Given the description of an element on the screen output the (x, y) to click on. 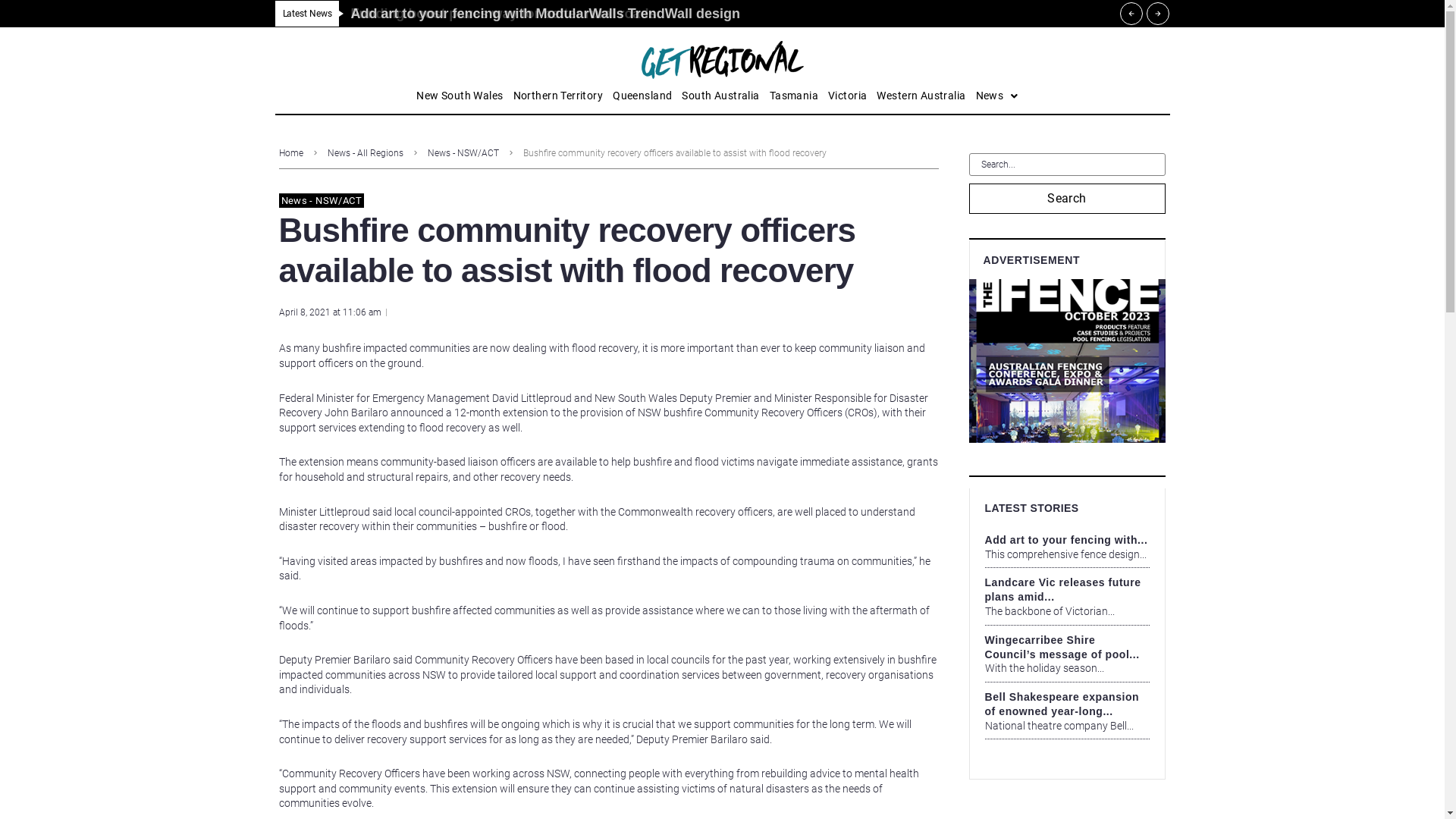
Landcare Vic releases future plans amid... Element type: text (1062, 589)
News - NSW/ACT Element type: text (321, 200)
News - All Regions Element type: text (365, 152)
South Australia Element type: text (720, 95)
Western Australia Element type: text (920, 95)
Bell Shakespeare expansion of enowned year-long... Element type: text (1061, 703)
Northern Territory Element type: text (558, 95)
Search for: Element type: hover (1067, 164)
News - NSW/ACT Element type: text (462, 152)
Add art to your fencing with... Element type: text (1065, 539)
Queensland Element type: text (641, 95)
Home Element type: text (291, 152)
News Element type: text (996, 95)
Search Element type: text (1067, 198)
Funding boost paves way for better rural roads Element type: text (502, 13)
New South Wales Element type: text (459, 95)
Victoria Element type: text (847, 95)
April 8, 2021 at 11:06 am Element type: text (330, 312)
Tasmania Element type: text (793, 95)
